Given the description of an element on the screen output the (x, y) to click on. 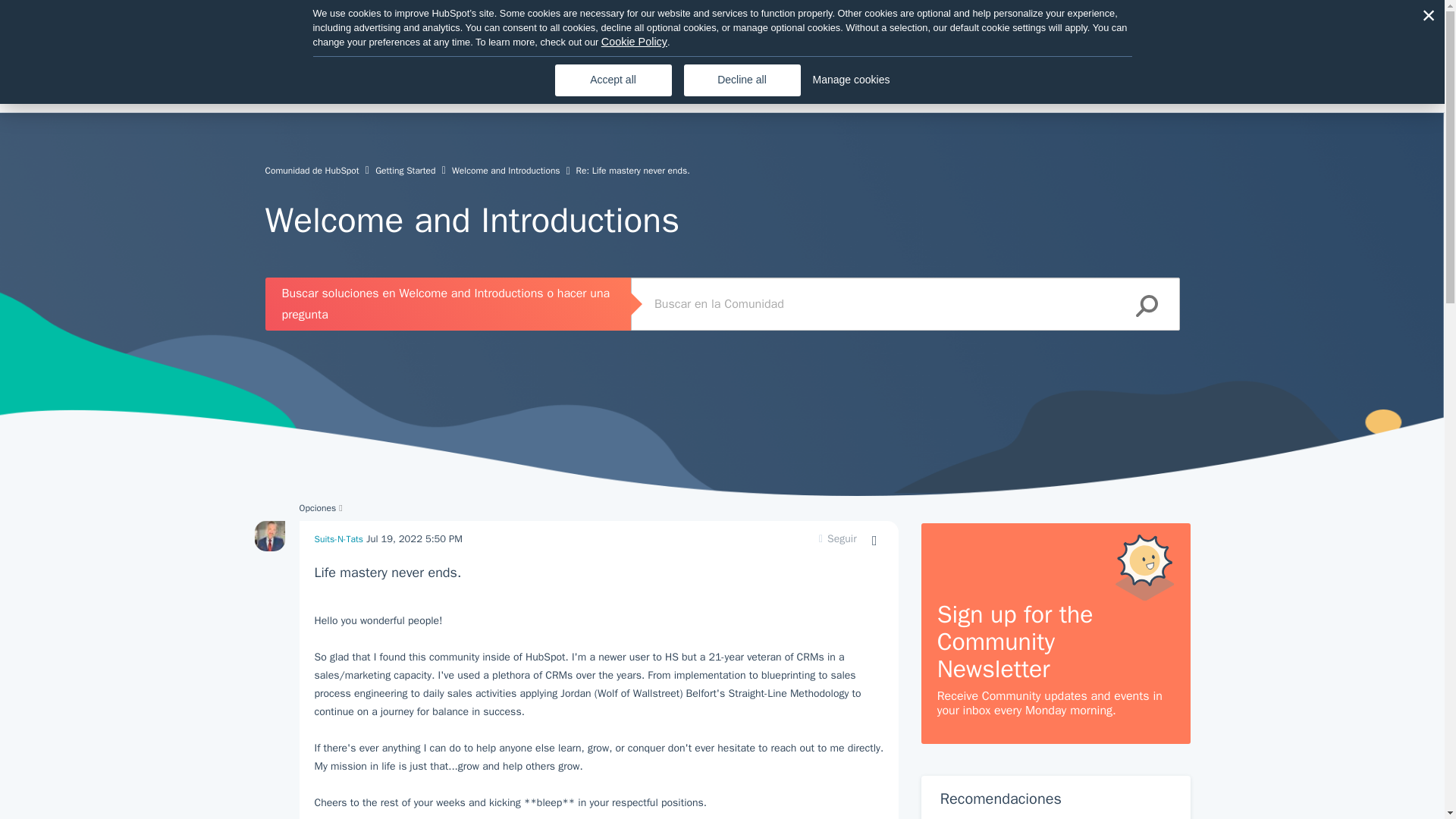
Buscar (1146, 305)
Buscar (1146, 305)
Buscar (762, 23)
Buscar (611, 22)
Buscar (762, 23)
